Given the description of an element on the screen output the (x, y) to click on. 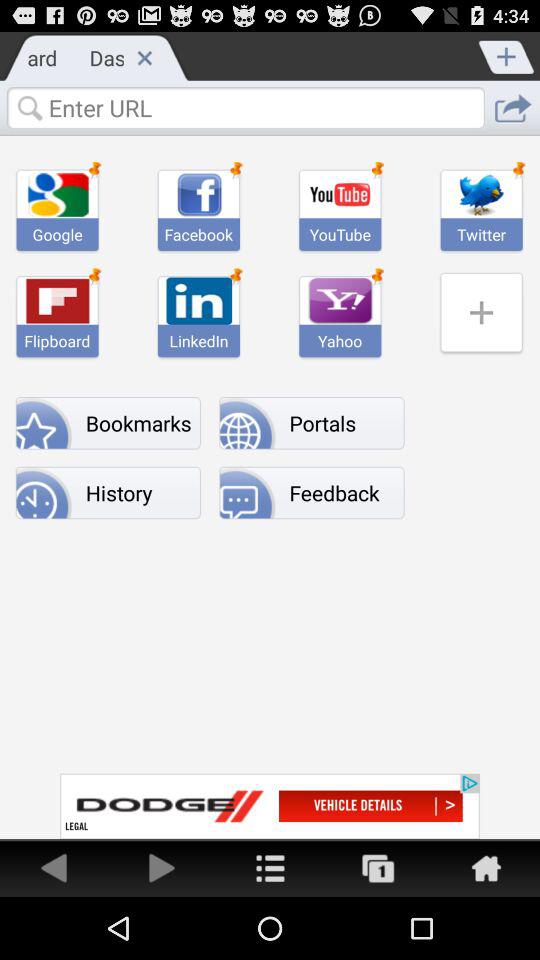
tab close (144, 57)
